Given the description of an element on the screen output the (x, y) to click on. 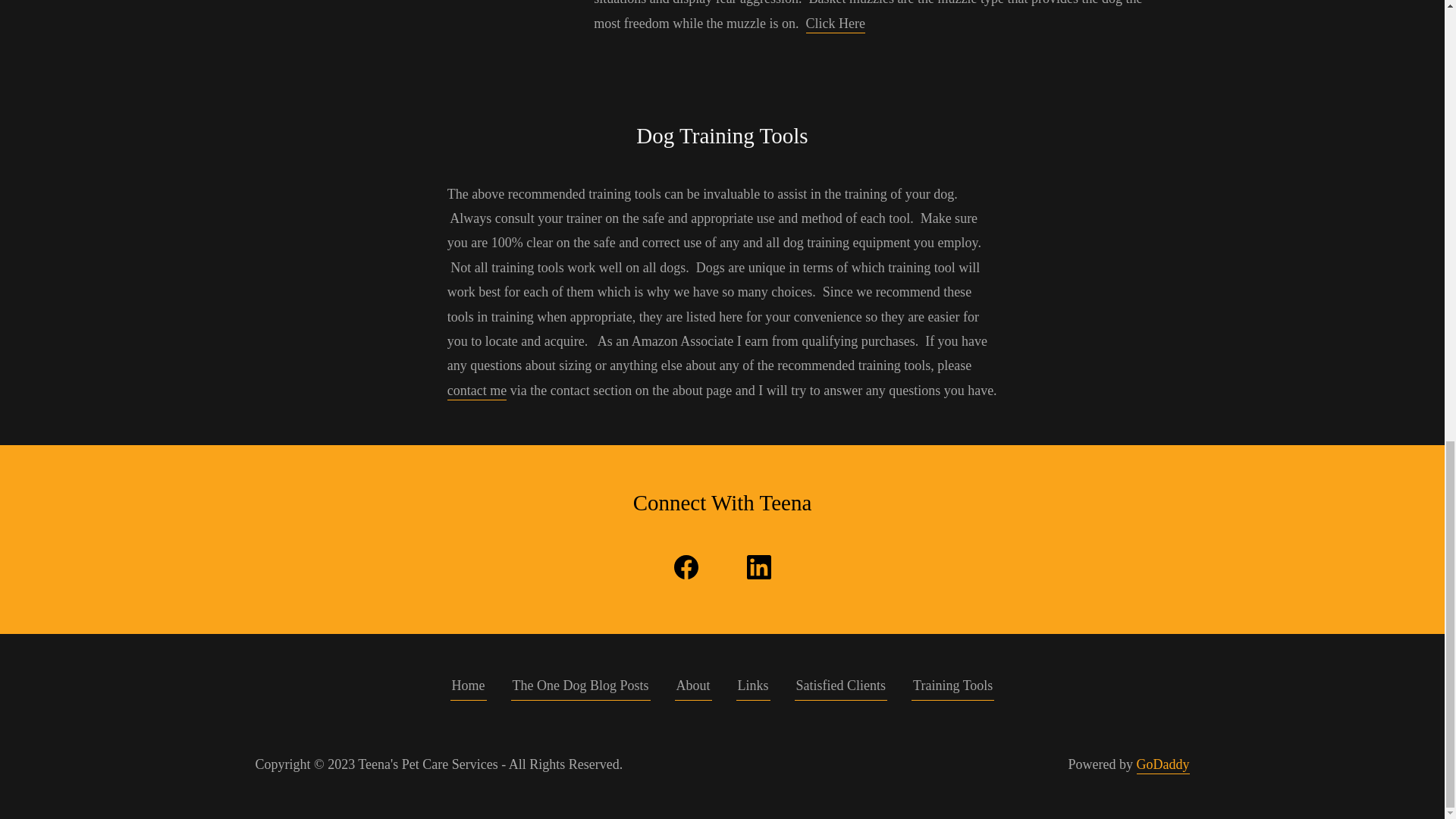
Satisfied Clients (841, 688)
GoDaddy (1162, 764)
Home (467, 688)
The One Dog Blog Posts (580, 688)
Training Tools (952, 688)
About (693, 688)
contact me (476, 391)
Links (753, 688)
Click Here (835, 24)
